Given the description of an element on the screen output the (x, y) to click on. 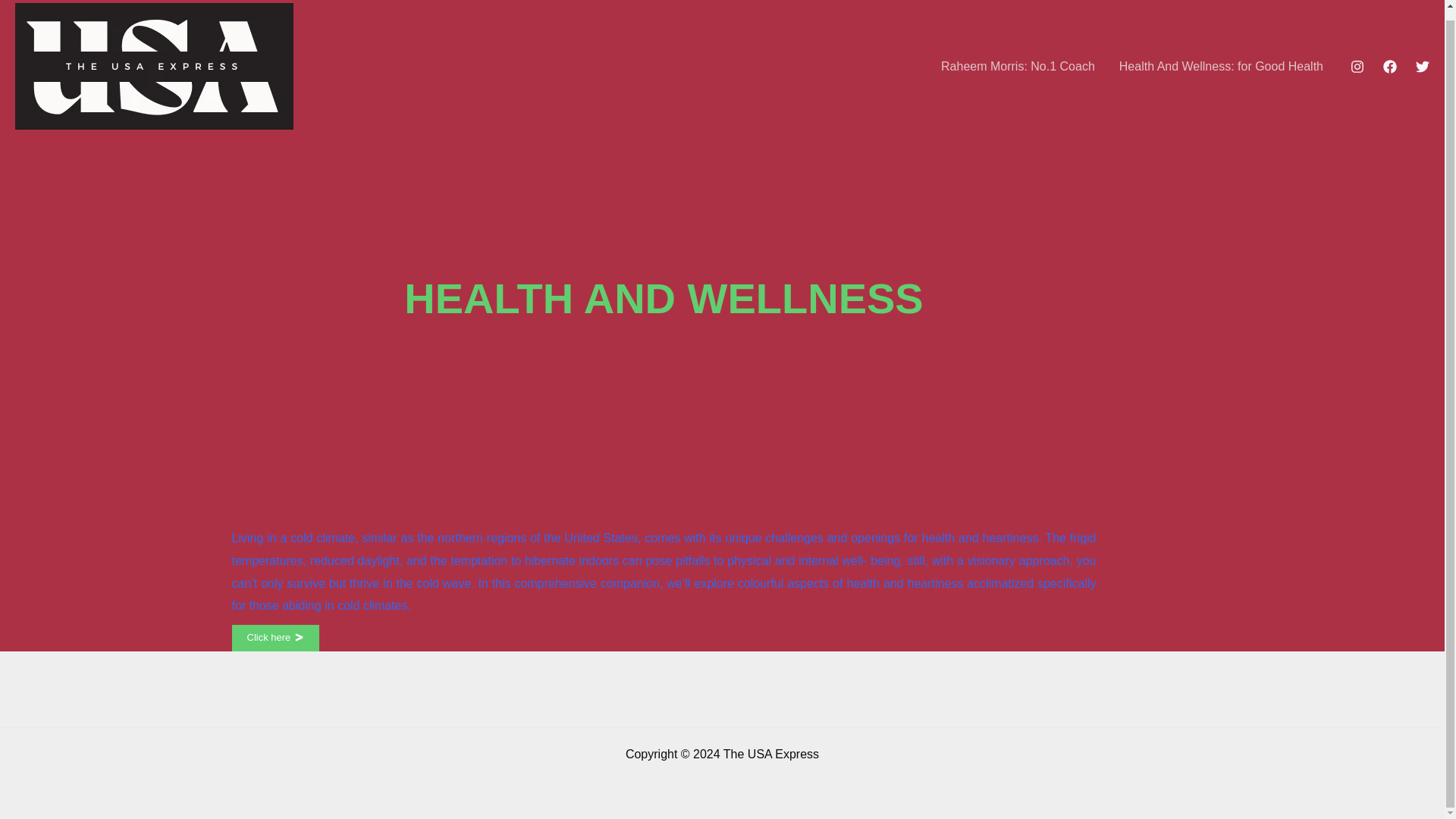
Health And Wellness: for Good Health (1220, 65)
Raheem Morris: No.1 Coach (1017, 65)
Click here (275, 637)
